Given the description of an element on the screen output the (x, y) to click on. 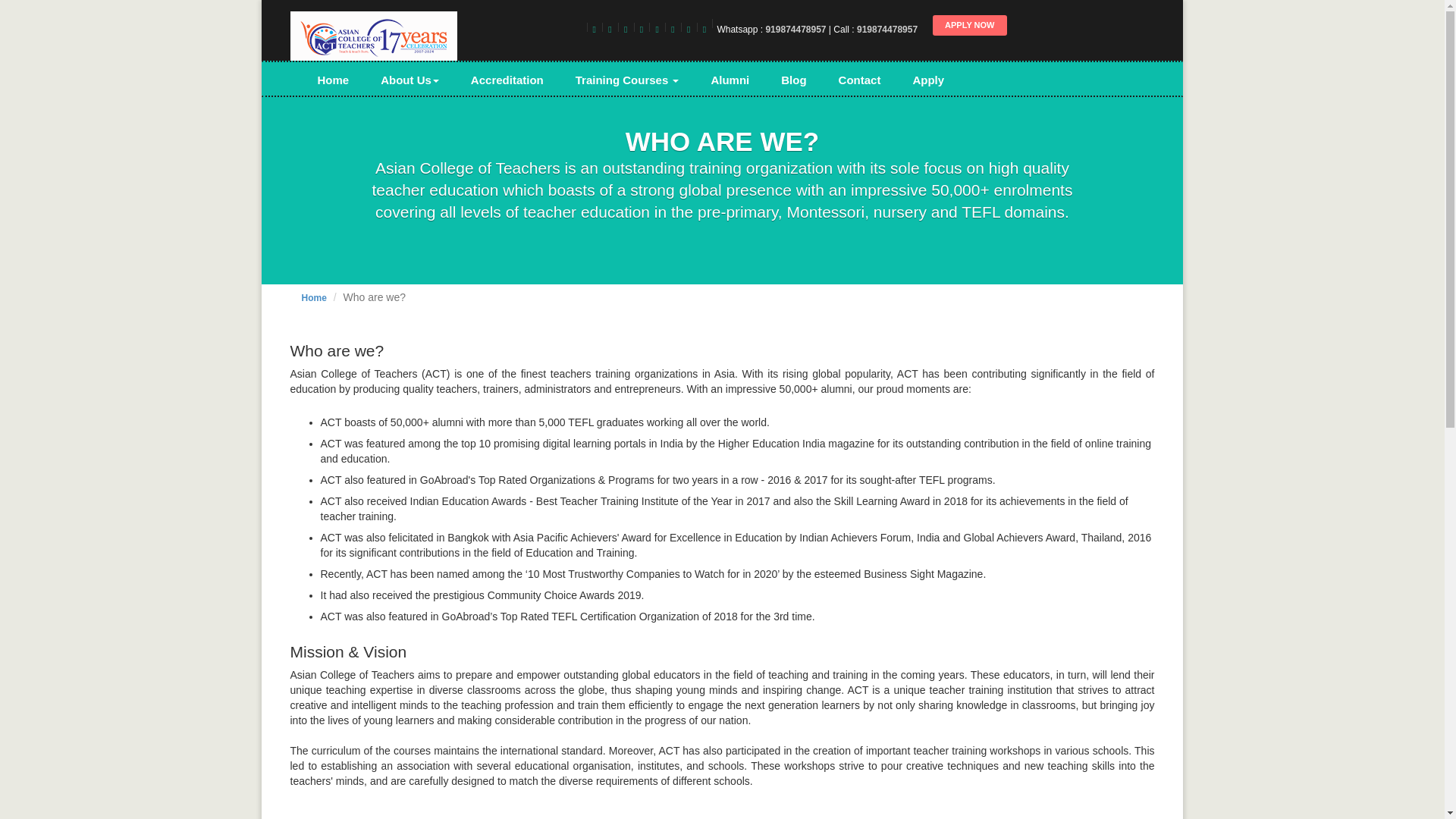
Blog (793, 80)
919874478957 (795, 29)
About Us (409, 80)
Training Courses (627, 80)
Alumni (729, 80)
Home (333, 80)
Asian College of Teachers (373, 37)
Contact (859, 80)
Accreditation (506, 80)
919874478957 (887, 29)
